Given the description of an element on the screen output the (x, y) to click on. 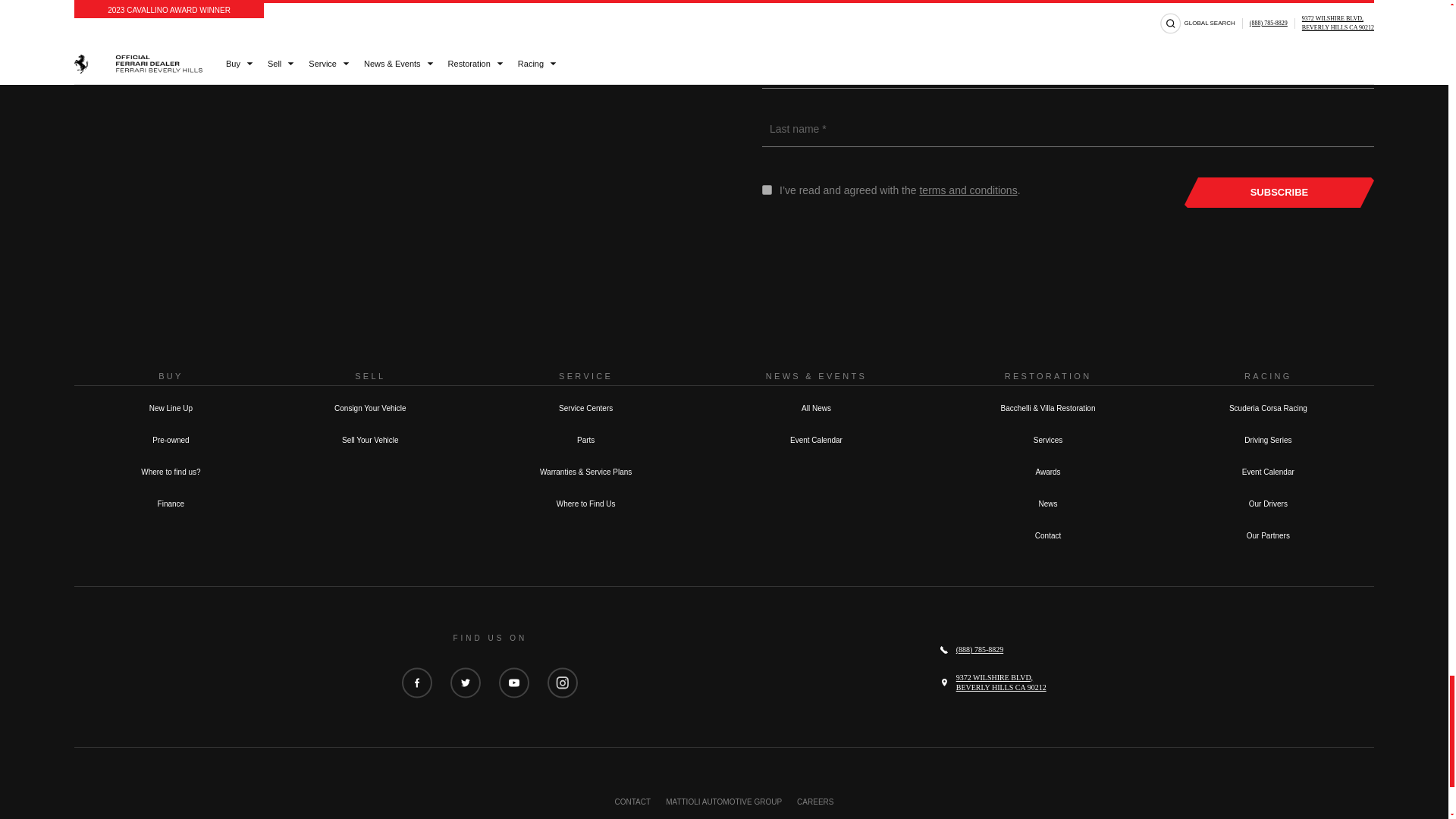
on (766, 189)
terms and conditions (967, 189)
